Given the description of an element on the screen output the (x, y) to click on. 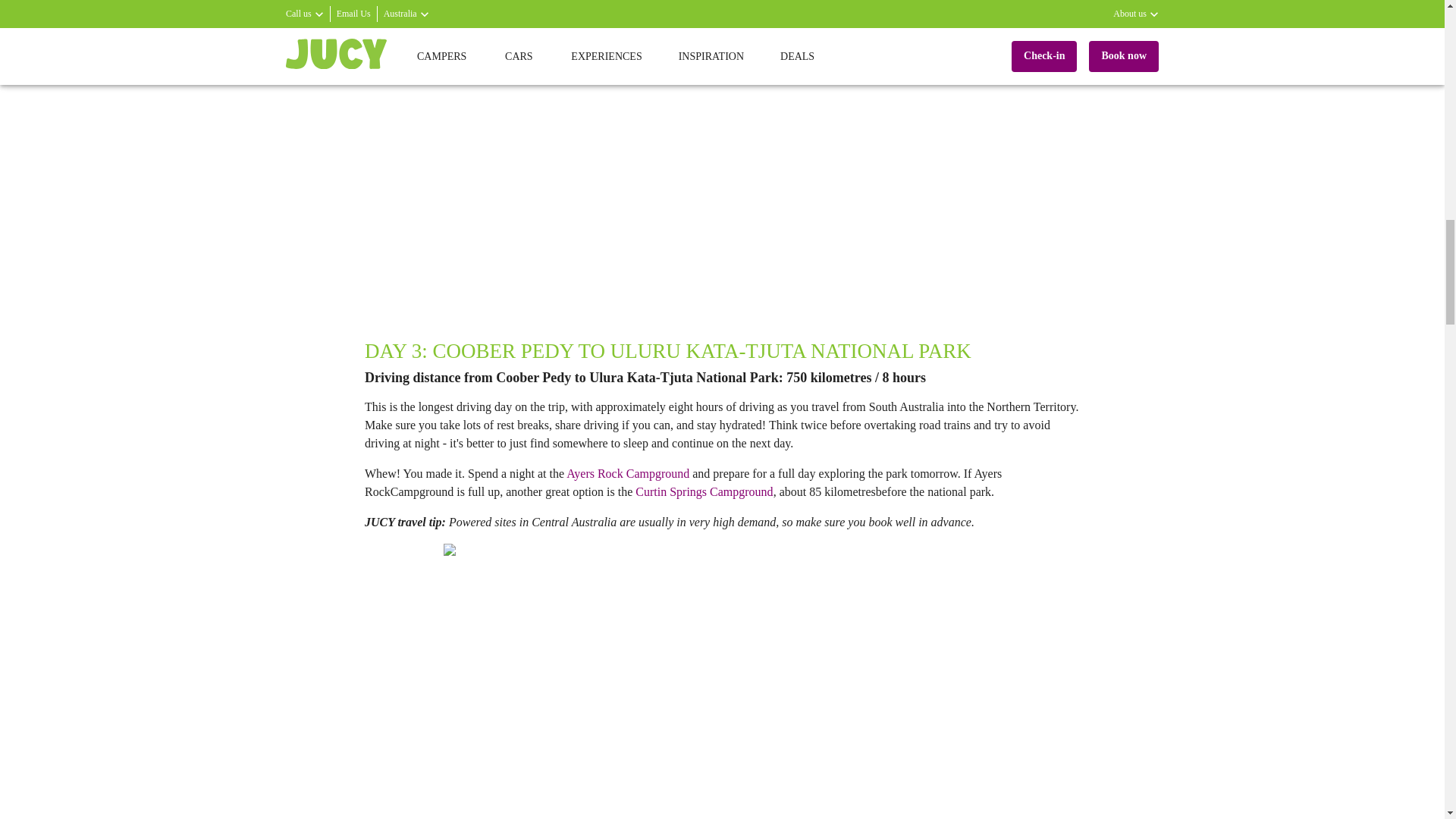
Ayers Rock Campground (627, 472)
Curtin Springs Campground (703, 491)
